Given the description of an element on the screen output the (x, y) to click on. 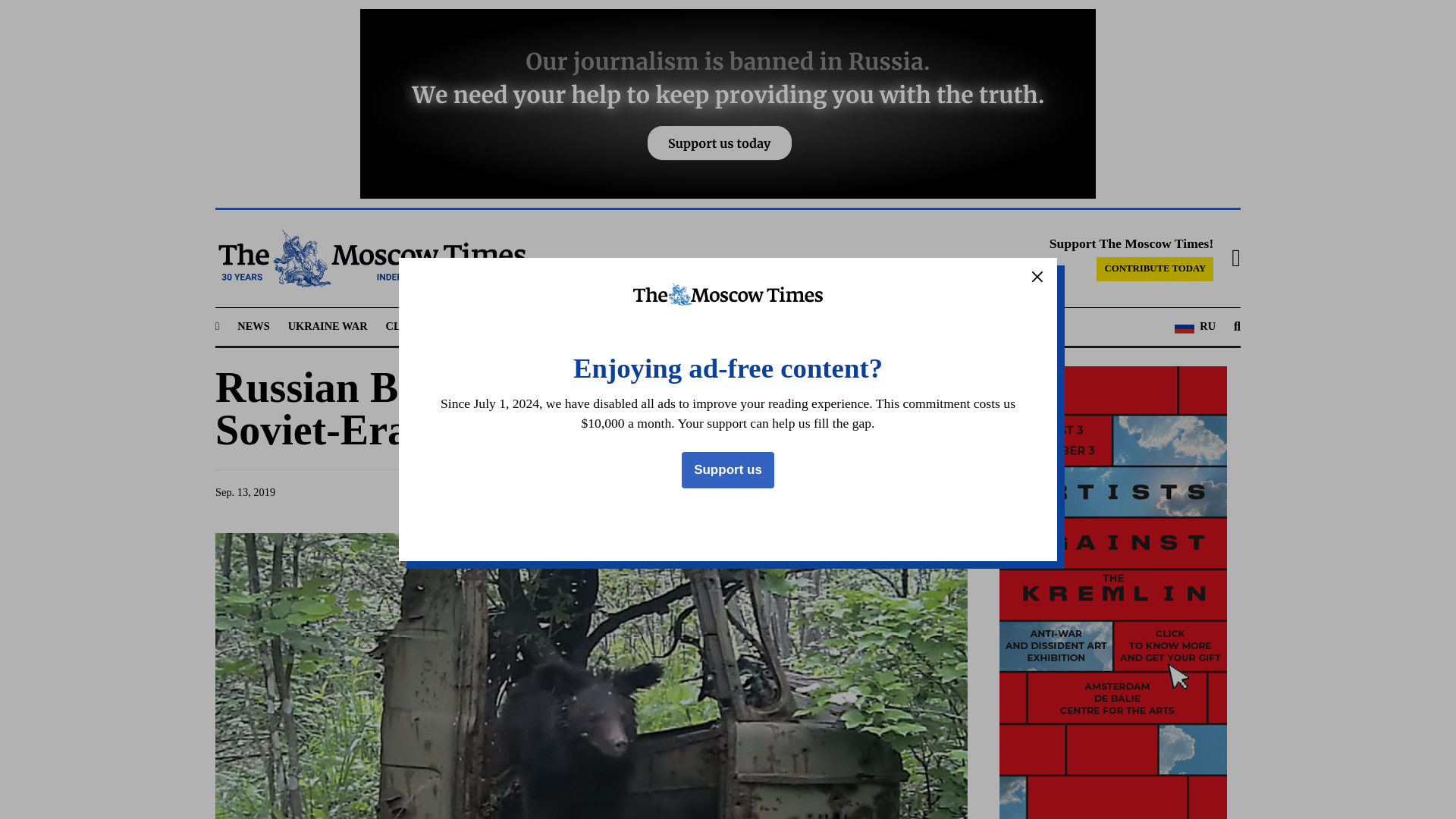
Share on Twitter (810, 492)
BUSINESS (550, 326)
The Moscow Times - Independent News from Russia (370, 258)
CLIMATE (411, 326)
Share on Facebook (781, 492)
OPINION (708, 326)
Share on Telegram (838, 492)
ARCHIVE (853, 326)
Support us (727, 470)
MEANWHILE (629, 326)
RU (1194, 326)
NEWS (253, 326)
CONTRIBUTE TODAY (1154, 269)
UKRAINE WAR (328, 326)
Share on Flipboard (925, 492)
